Given the description of an element on the screen output the (x, y) to click on. 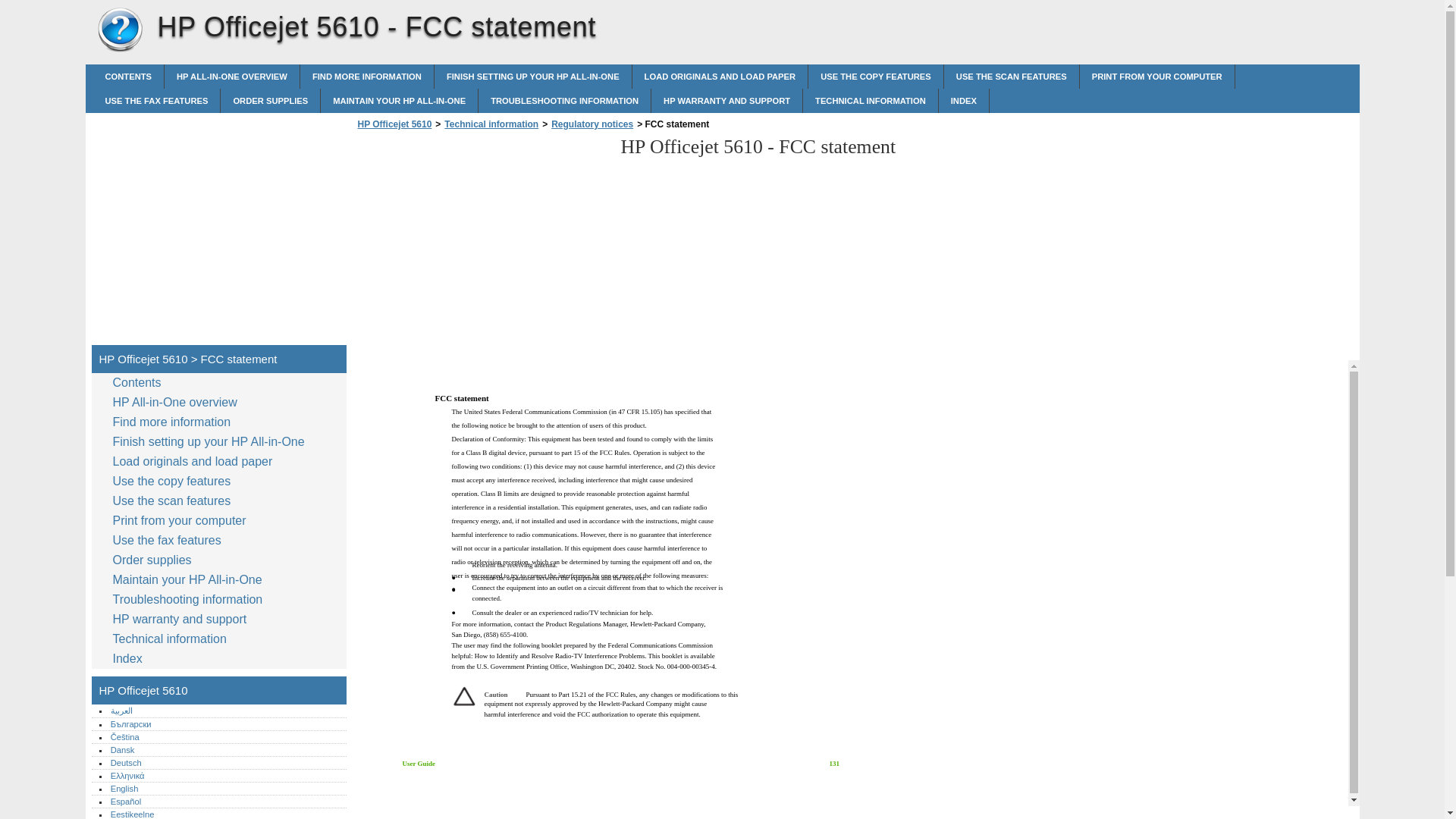
Find more information (366, 76)
USE THE FAX FEATURES (156, 100)
HP ALL-IN-ONE OVERVIEW (231, 76)
Order supplies (270, 100)
HP All-in-One overview (178, 402)
Contents (140, 383)
HP Officejet 5610 (394, 124)
USE THE SCAN FEATURES (1010, 76)
Regulatory notices (592, 124)
